Given the description of an element on the screen output the (x, y) to click on. 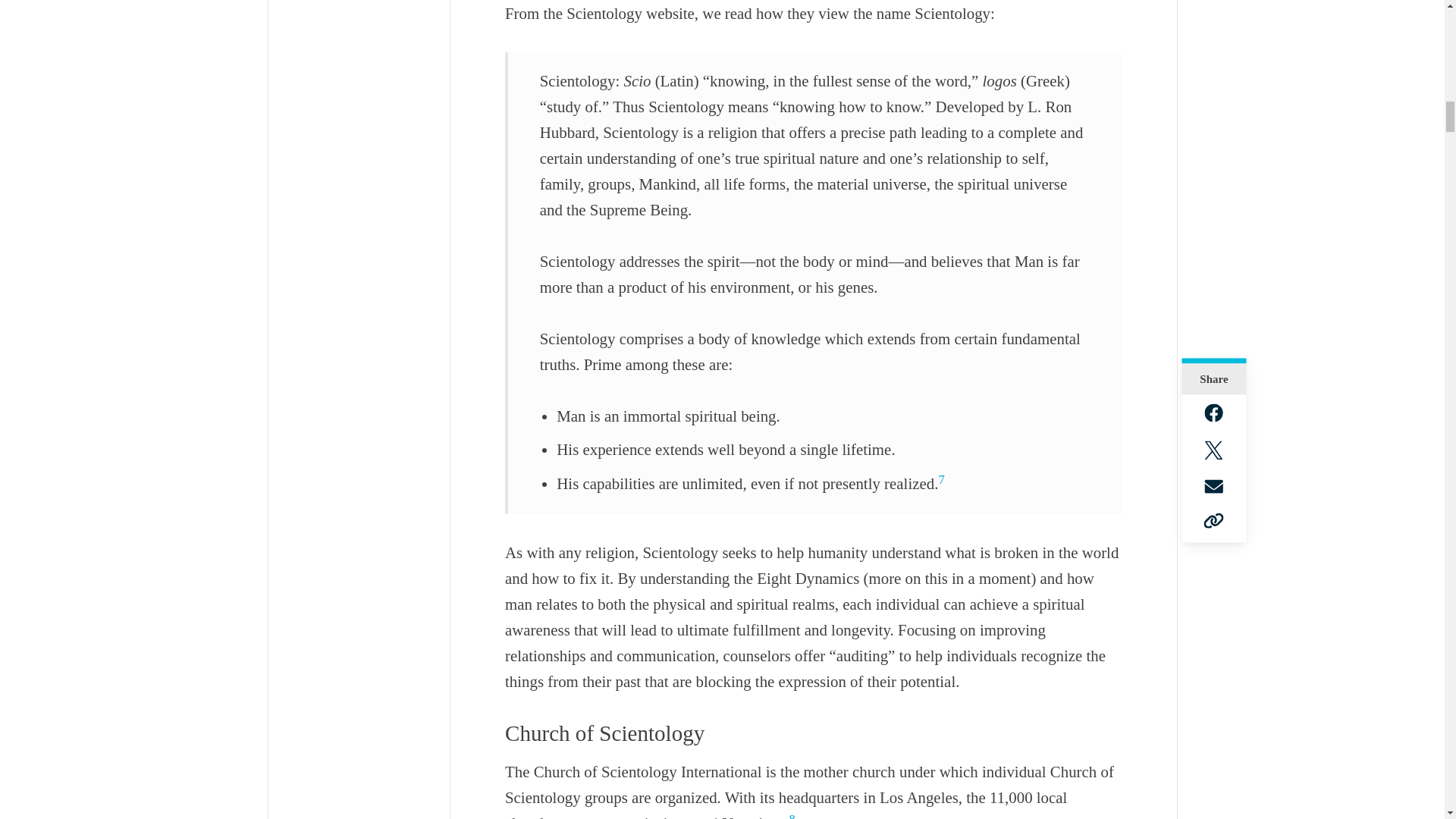
Footnote 8 (791, 815)
